Given the description of an element on the screen output the (x, y) to click on. 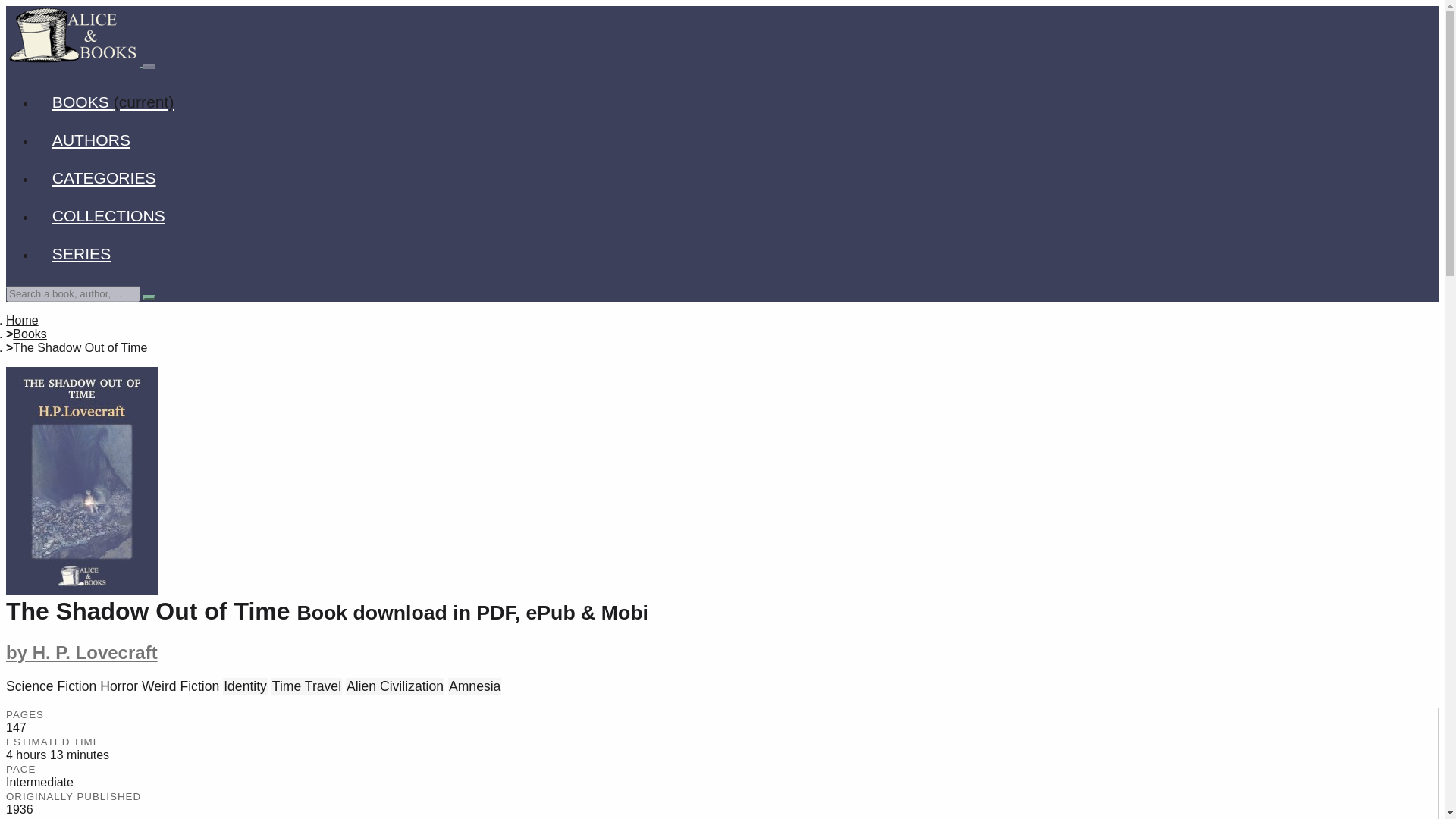
CATEGORIES (103, 177)
SERIES (81, 253)
by H. P. Lovecraft (81, 652)
AUTHORS (91, 139)
COLLECTIONS (108, 215)
Books (29, 333)
Home (22, 319)
